Given the description of an element on the screen output the (x, y) to click on. 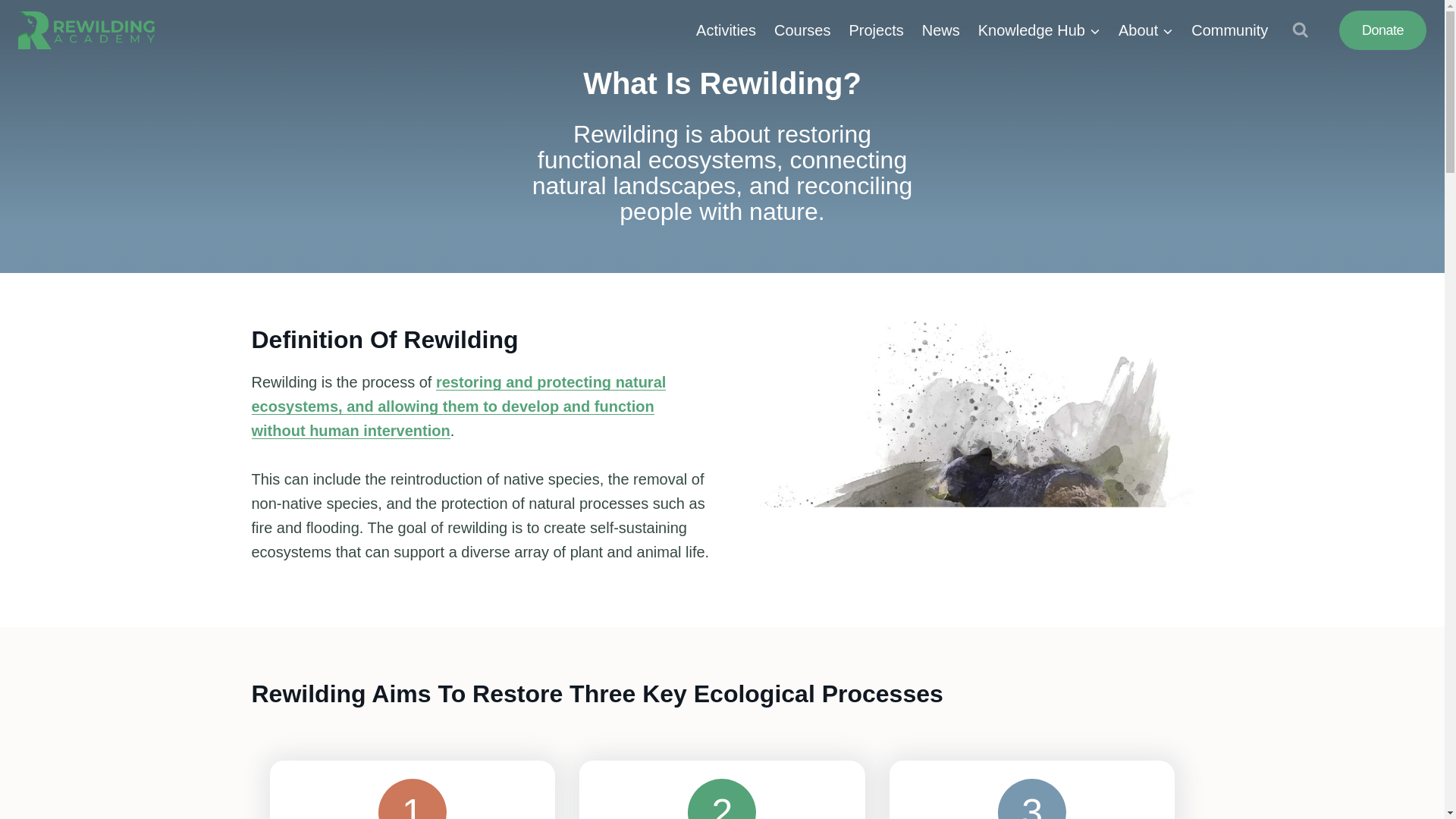
Knowledge Hub (1039, 30)
Activities (726, 30)
Projects (876, 30)
Community (1229, 30)
Courses (802, 30)
About (1145, 30)
News (940, 30)
Donate (1382, 30)
